Given the description of an element on the screen output the (x, y) to click on. 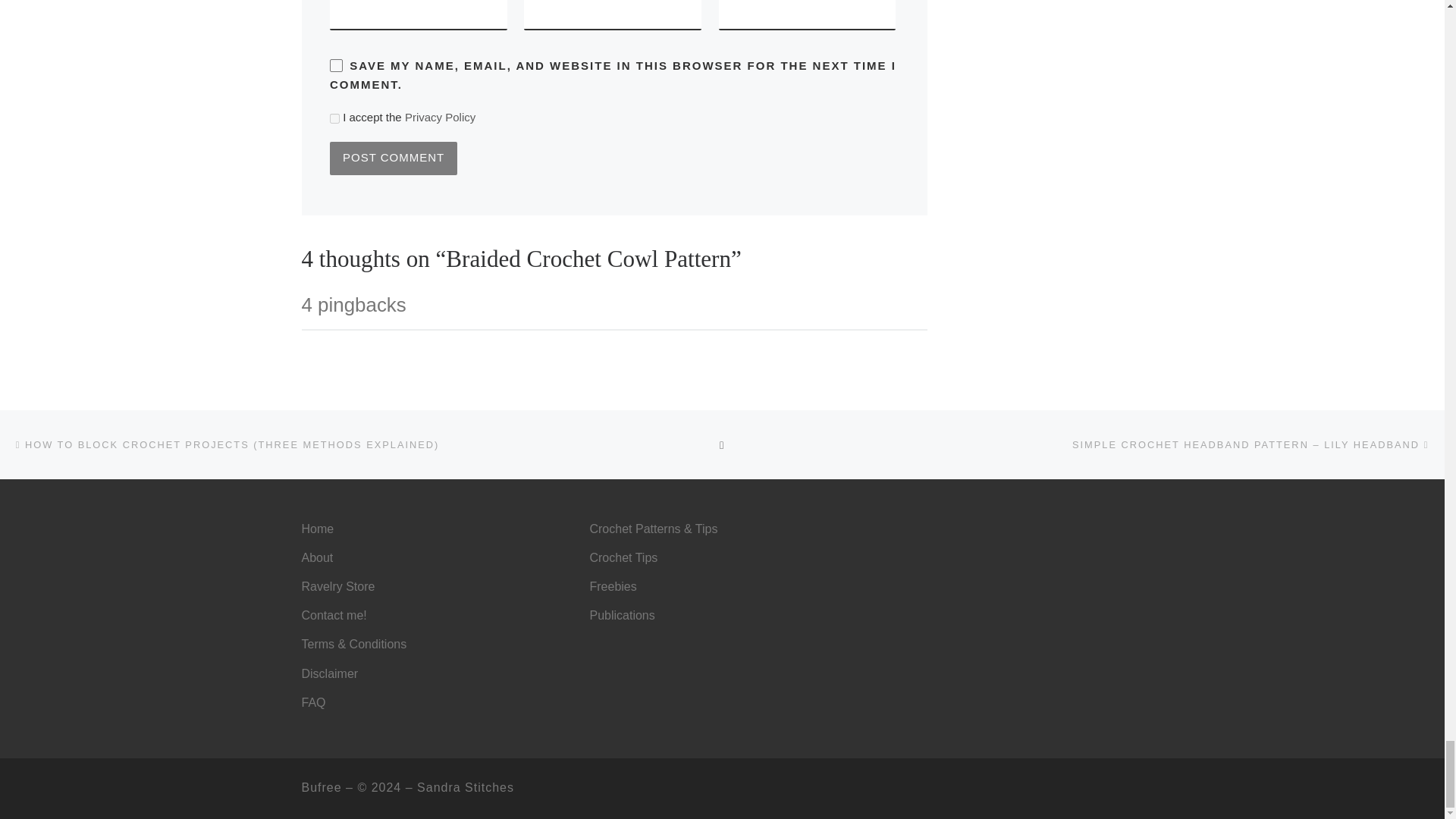
Post Comment (393, 158)
1 (334, 118)
yes (336, 65)
